Given the description of an element on the screen output the (x, y) to click on. 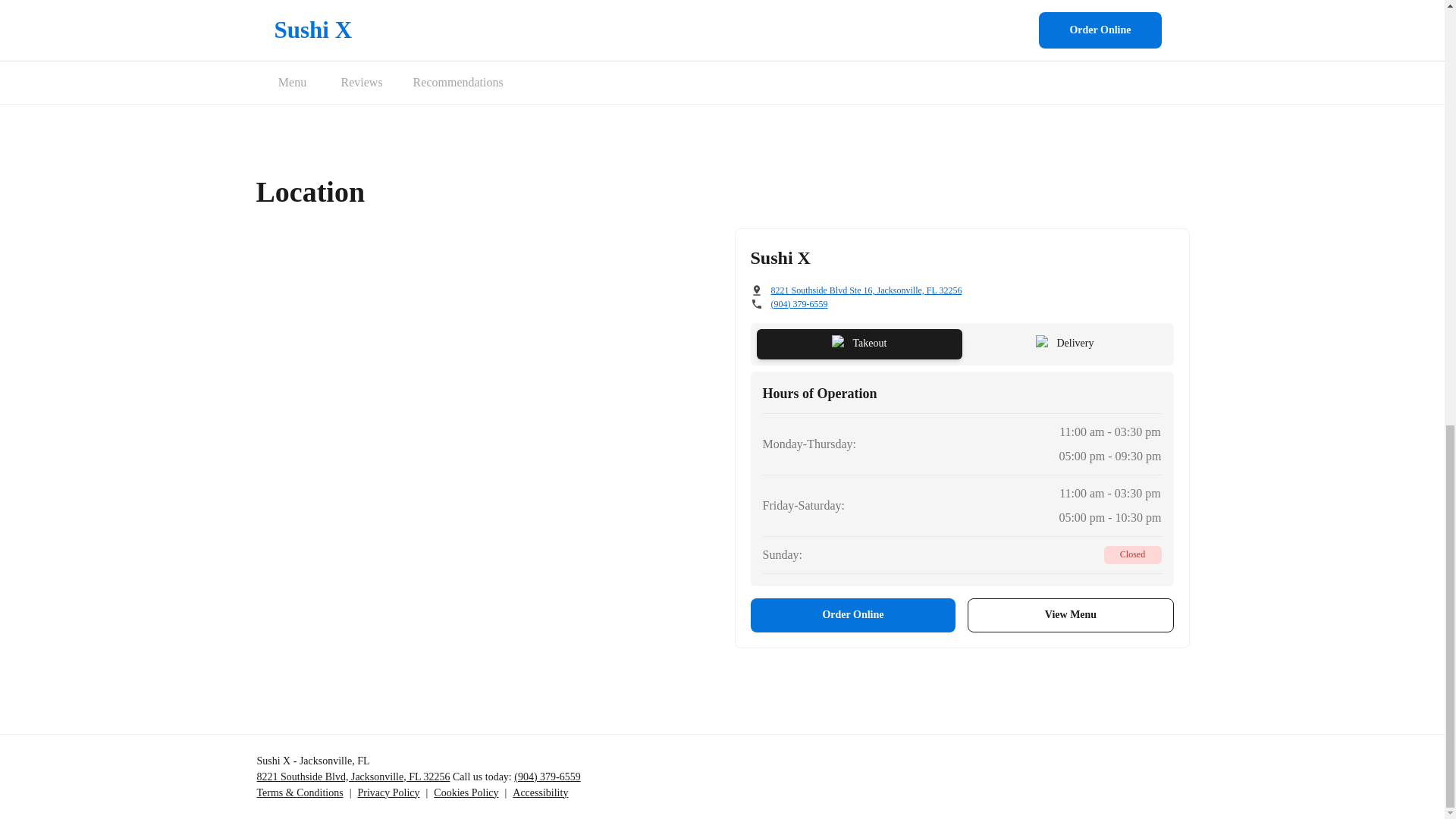
Privacy Policy (387, 792)
Cookies Policy (465, 792)
8221 Southside Blvd, Jacksonville, FL 32256 (352, 776)
Order Online (853, 615)
View Menu (1070, 615)
8221 Southside Blvd Ste 16, Jacksonville, FL 32256 (865, 290)
Accessibility (539, 792)
